Given the description of an element on the screen output the (x, y) to click on. 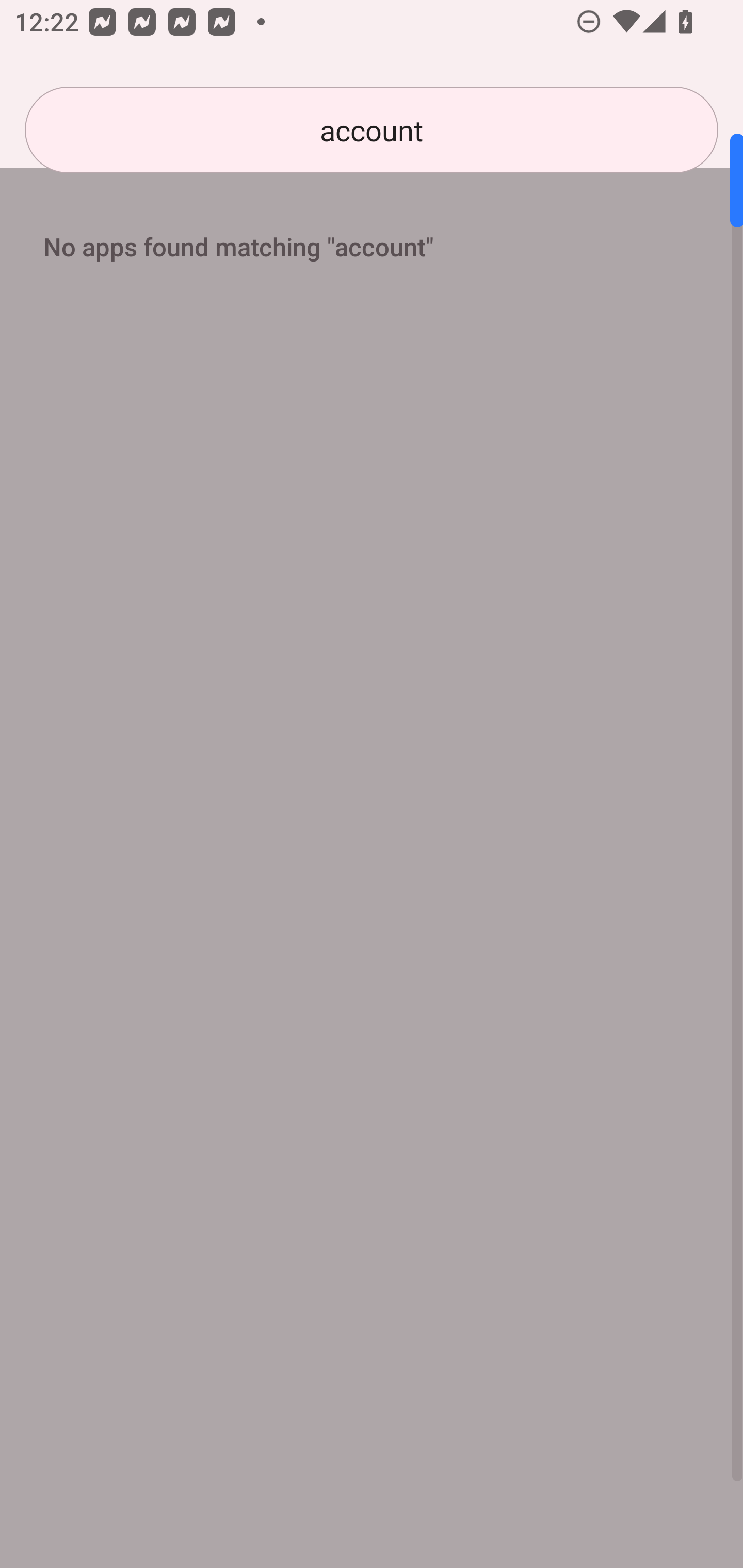
account (371, 130)
